Given the description of an element on the screen output the (x, y) to click on. 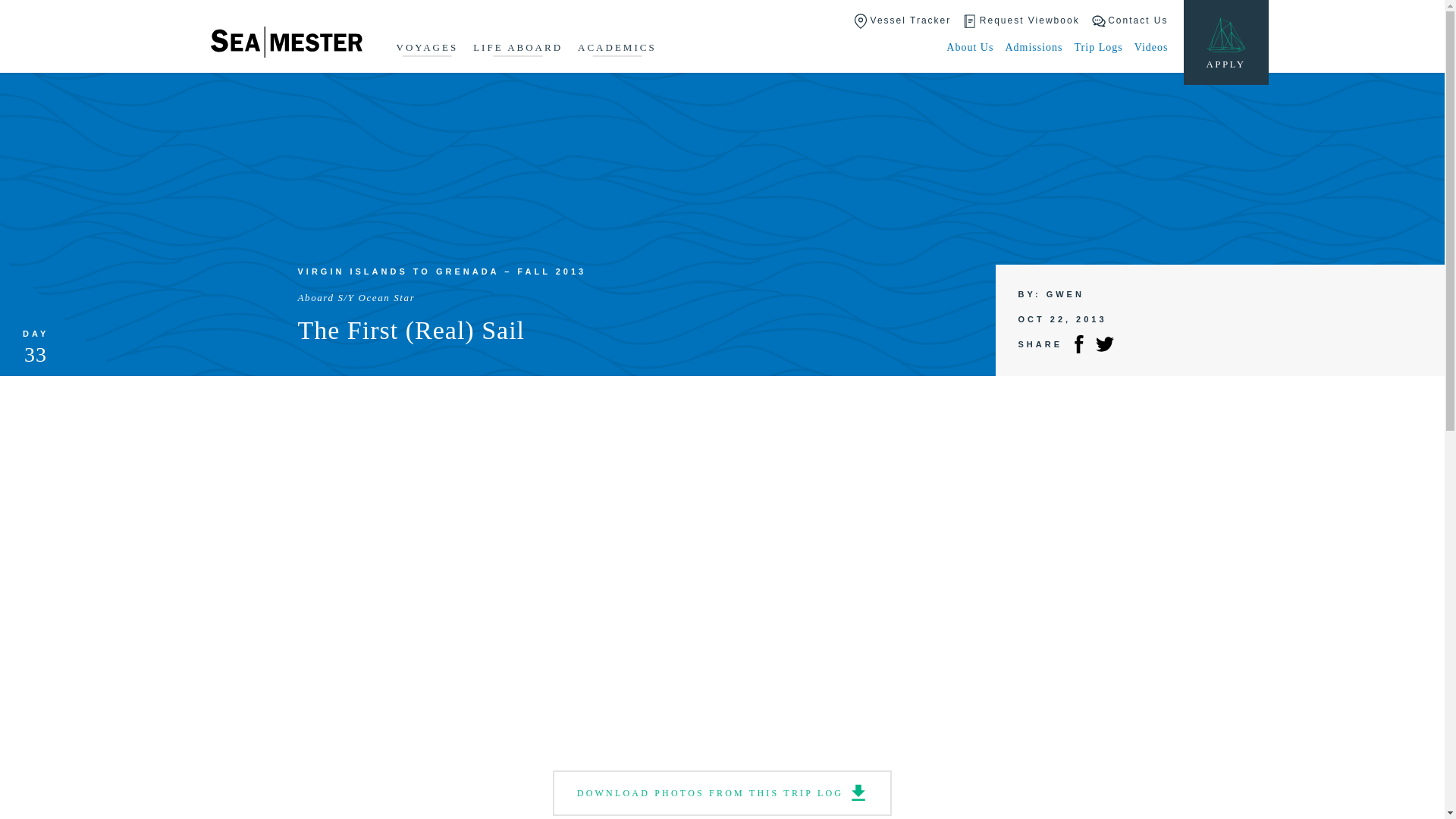
DOWNLOAD PHOTOS FROM THIS TRIP LOG (722, 792)
Vessel Tracker (901, 20)
Admissions (1033, 47)
APPLY (1225, 42)
Contact Us (1129, 20)
VOYAGES (427, 48)
About Us (969, 47)
Request Viewbook (1020, 20)
Videos (1151, 47)
ACADEMICS (617, 48)
